Given the description of an element on the screen output the (x, y) to click on. 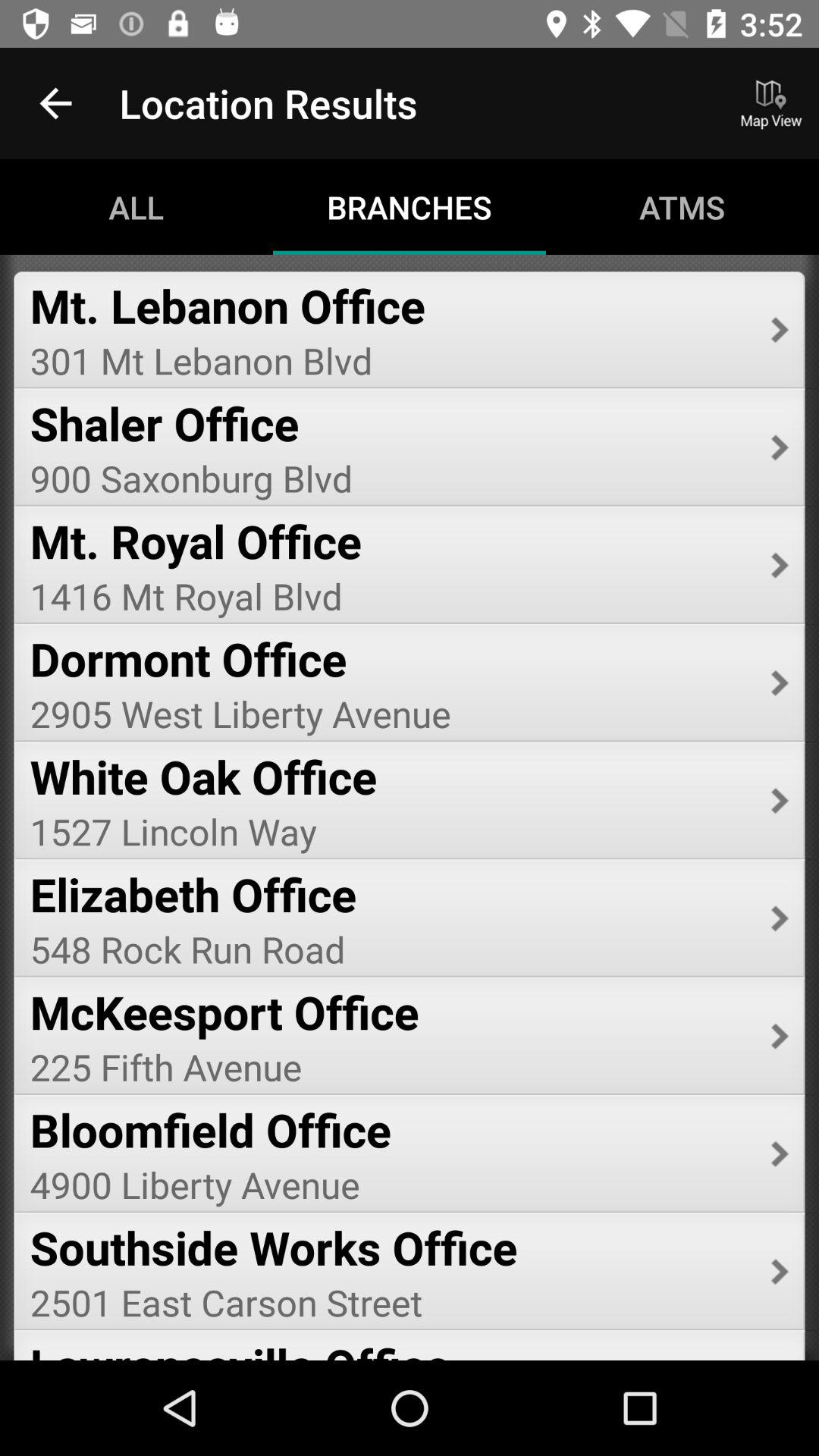
tap the item next to the location results (55, 103)
